Given the description of an element on the screen output the (x, y) to click on. 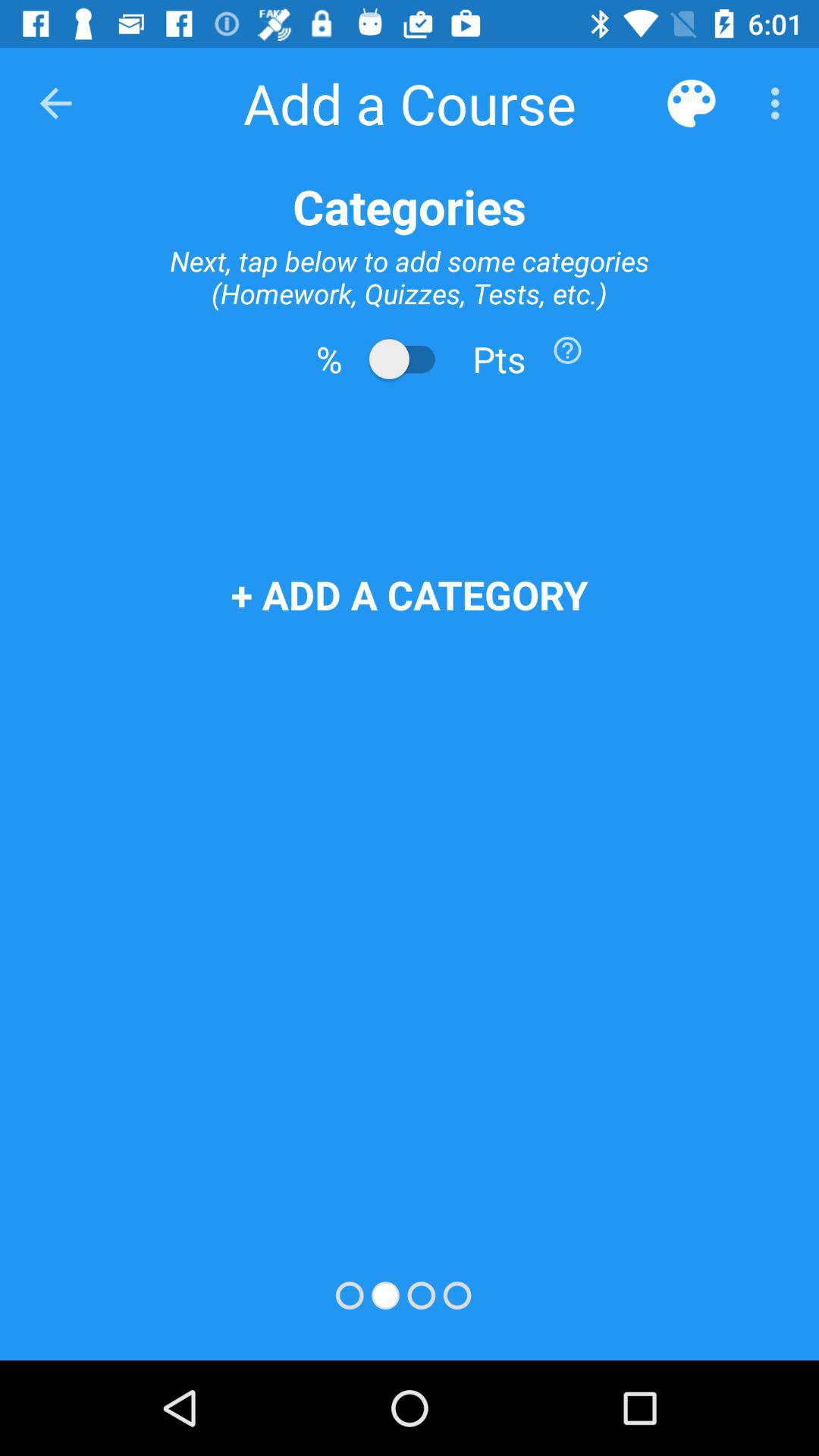
launch the item above categories (779, 103)
